Given the description of an element on the screen output the (x, y) to click on. 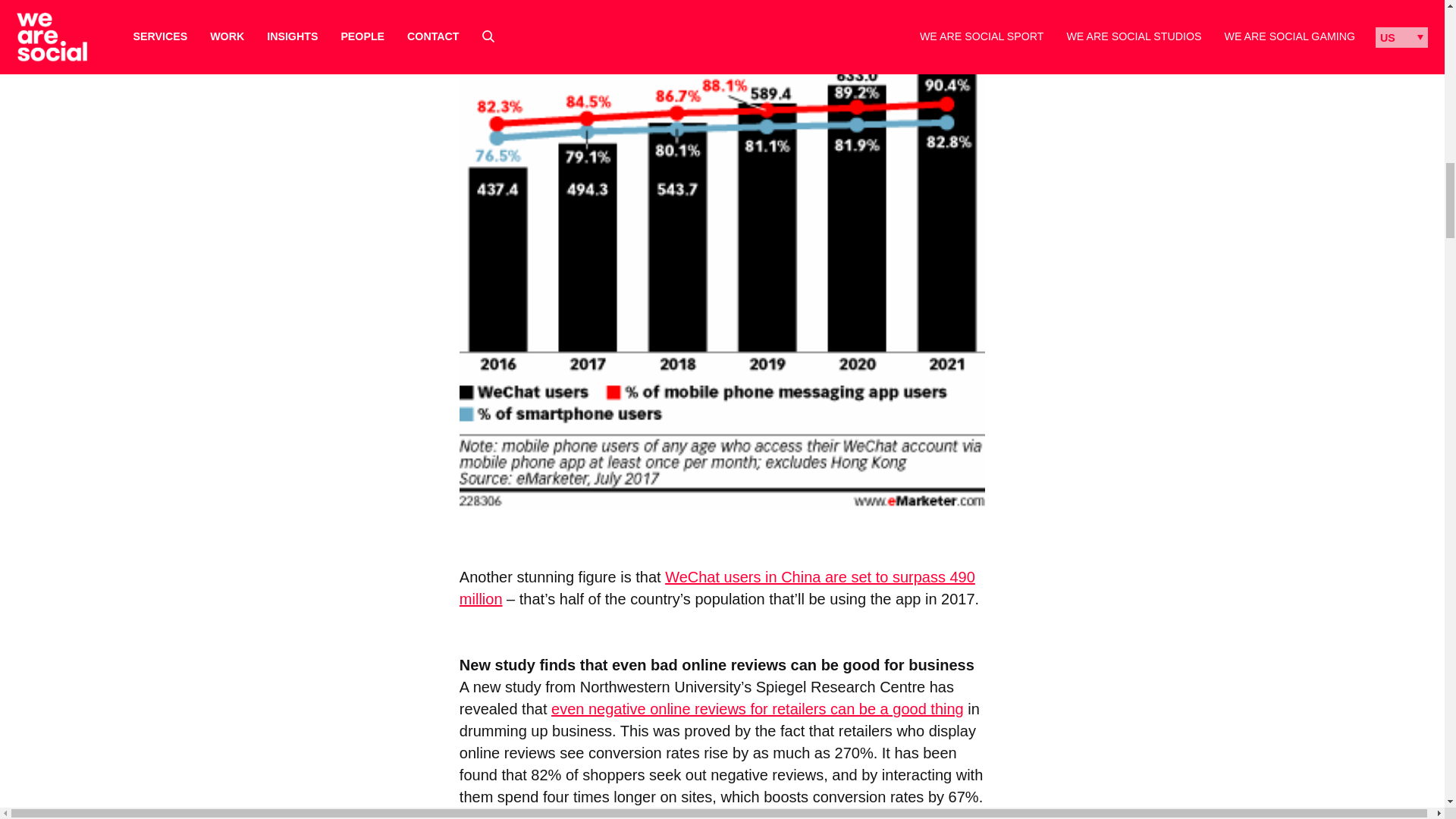
WeChat users in China are set to surpass 490 million (717, 587)
